Given the description of an element on the screen output the (x, y) to click on. 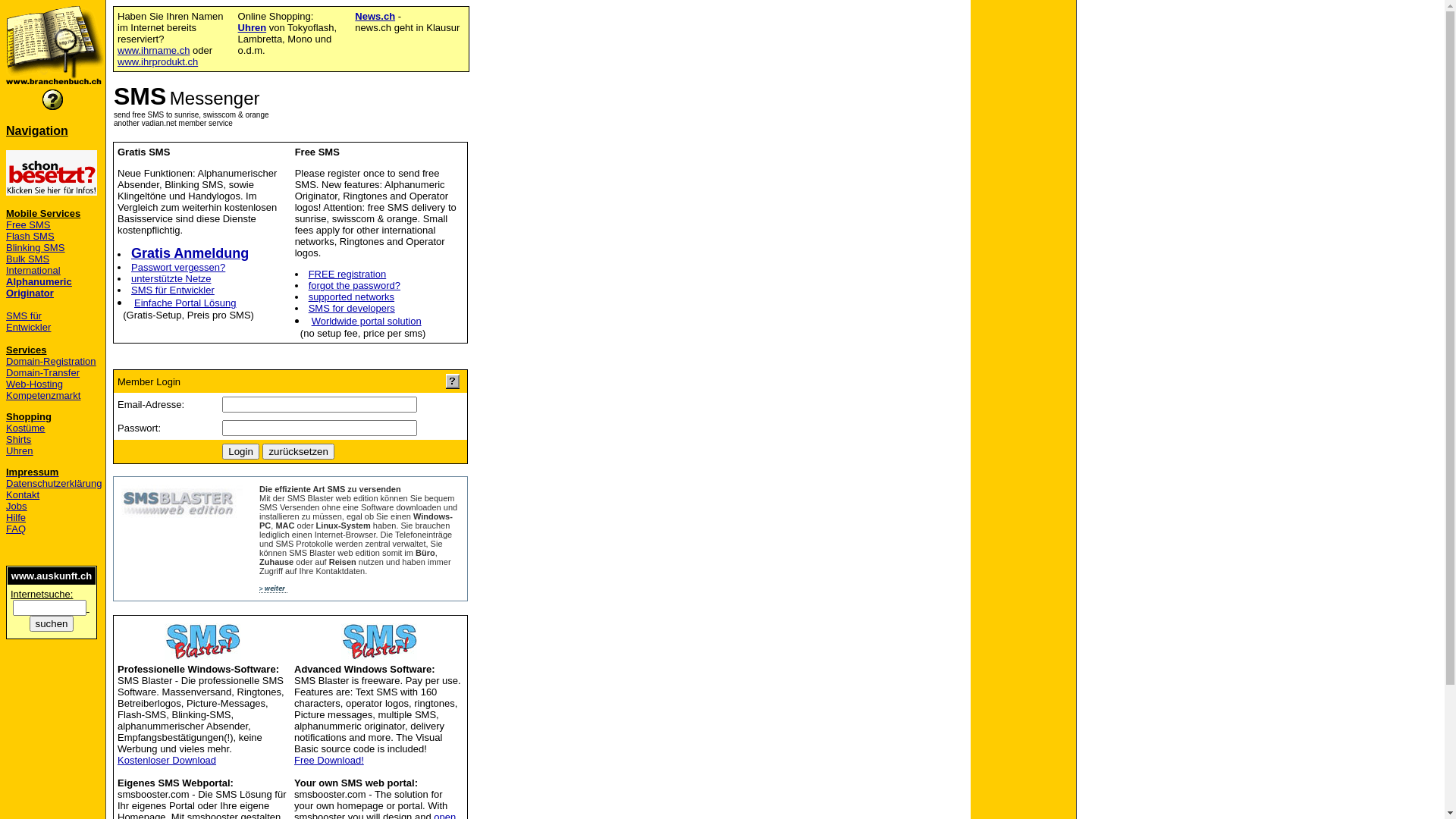
www.ihrname.ch Element type: text (153, 50)
Free Download! Element type: text (329, 759)
Kostenloser Download Element type: text (166, 759)
News.ch Element type: text (374, 15)
Kontakt Element type: text (22, 494)
Domain-Transfer Element type: text (42, 372)
Jobs Element type: text (16, 505)
Flash SMS Element type: text (30, 235)
forgot the password? Element type: text (354, 285)
Uhren Element type: text (19, 450)
FREE registration Element type: text (347, 273)
Free SMS Element type: text (28, 224)
SMS for developers Element type: text (351, 307)
Shopping Element type: text (28, 416)
www.ihrprodukt.ch Element type: text (157, 61)
supported networks Element type: text (351, 296)
Impressum Element type: text (32, 471)
Shirts Element type: text (18, 439)
Blinking SMS Element type: text (35, 247)
International Element type: text (33, 270)
Uhren Element type: text (252, 27)
FAQ Element type: text (15, 528)
Passwort vergessen? Element type: text (178, 267)
Alphanumeric Originator Element type: text (39, 287)
Kompetenzmarkt Element type: text (43, 395)
Entwickler Element type: text (28, 326)
Login Element type: text (240, 451)
suchen Element type: text (50, 623)
Web-Hosting Element type: text (34, 383)
Hilfe Element type: text (15, 517)
Bulk SMS Element type: text (27, 258)
Gratis Anmeldung Element type: text (189, 252)
Worldwide portal solution Element type: text (366, 320)
Domain-Registration Element type: text (51, 361)
